Given the description of an element on the screen output the (x, y) to click on. 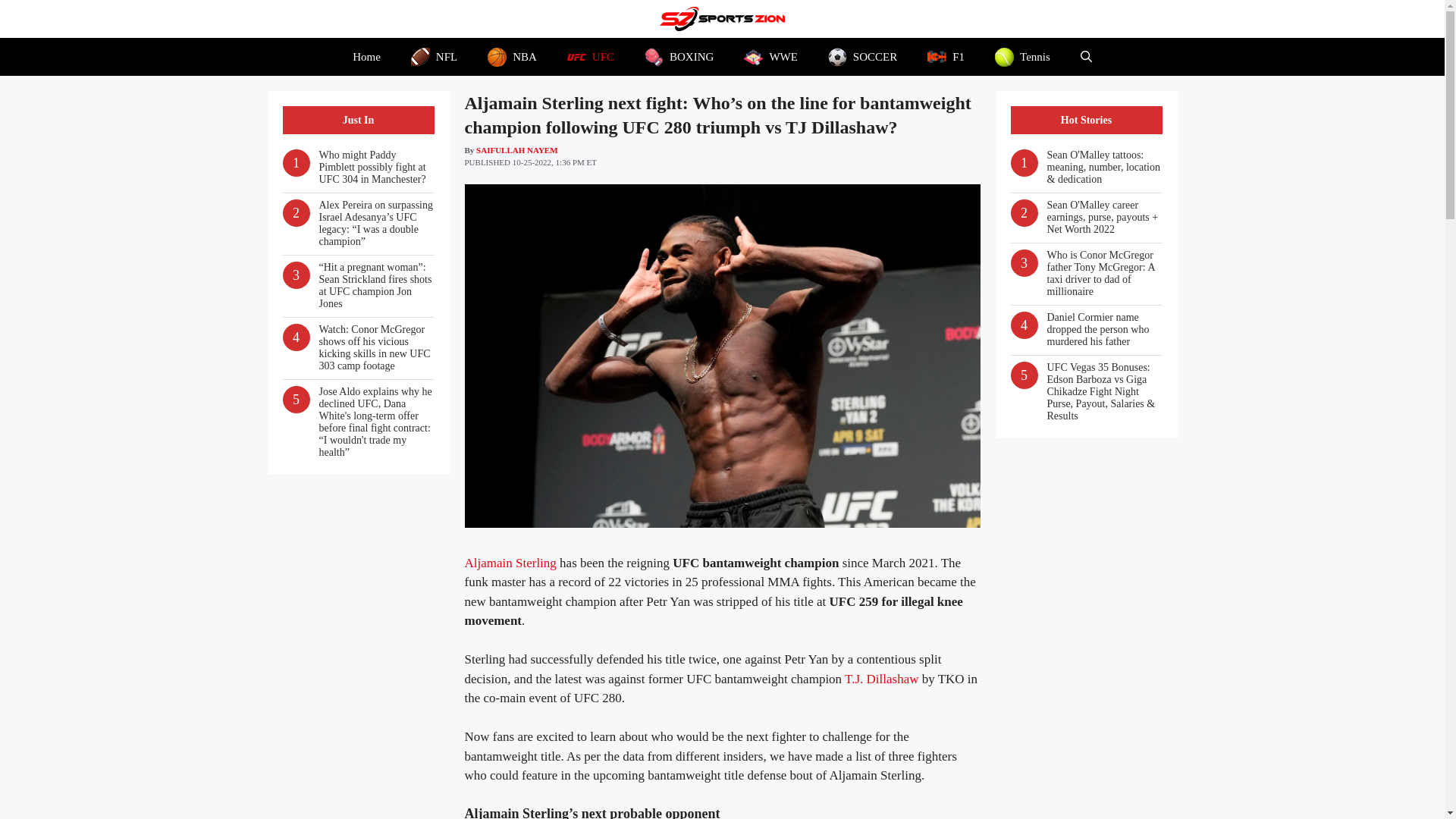
UFC (589, 56)
T.J. Dillashaw (881, 678)
SOCCER (862, 56)
Home (366, 56)
SAIFULLAH NAYEM (516, 149)
View all posts by Saifullah Nayem (516, 149)
Aljamain Sterling (510, 563)
Tennis (1022, 56)
